Given the description of an element on the screen output the (x, y) to click on. 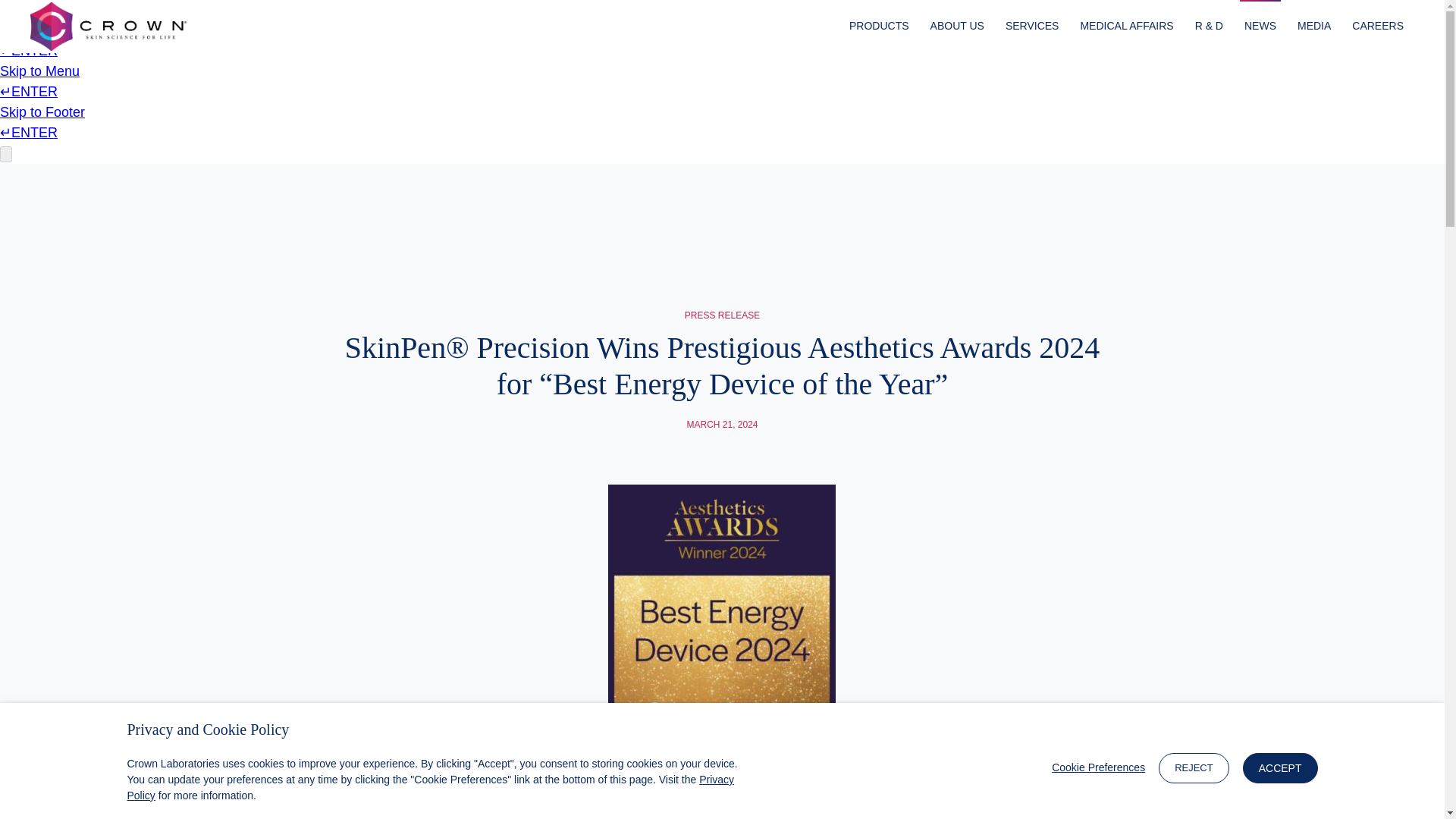
CAREERS (1377, 26)
Privacy Policy (431, 787)
SERVICES (1032, 26)
Crown Homepage (108, 26)
Edit Cookie Preferences (1097, 767)
ABOUT US (957, 26)
PRODUCTS (879, 26)
MEDICAL AFFAIRS (1126, 26)
